Given the description of an element on the screen output the (x, y) to click on. 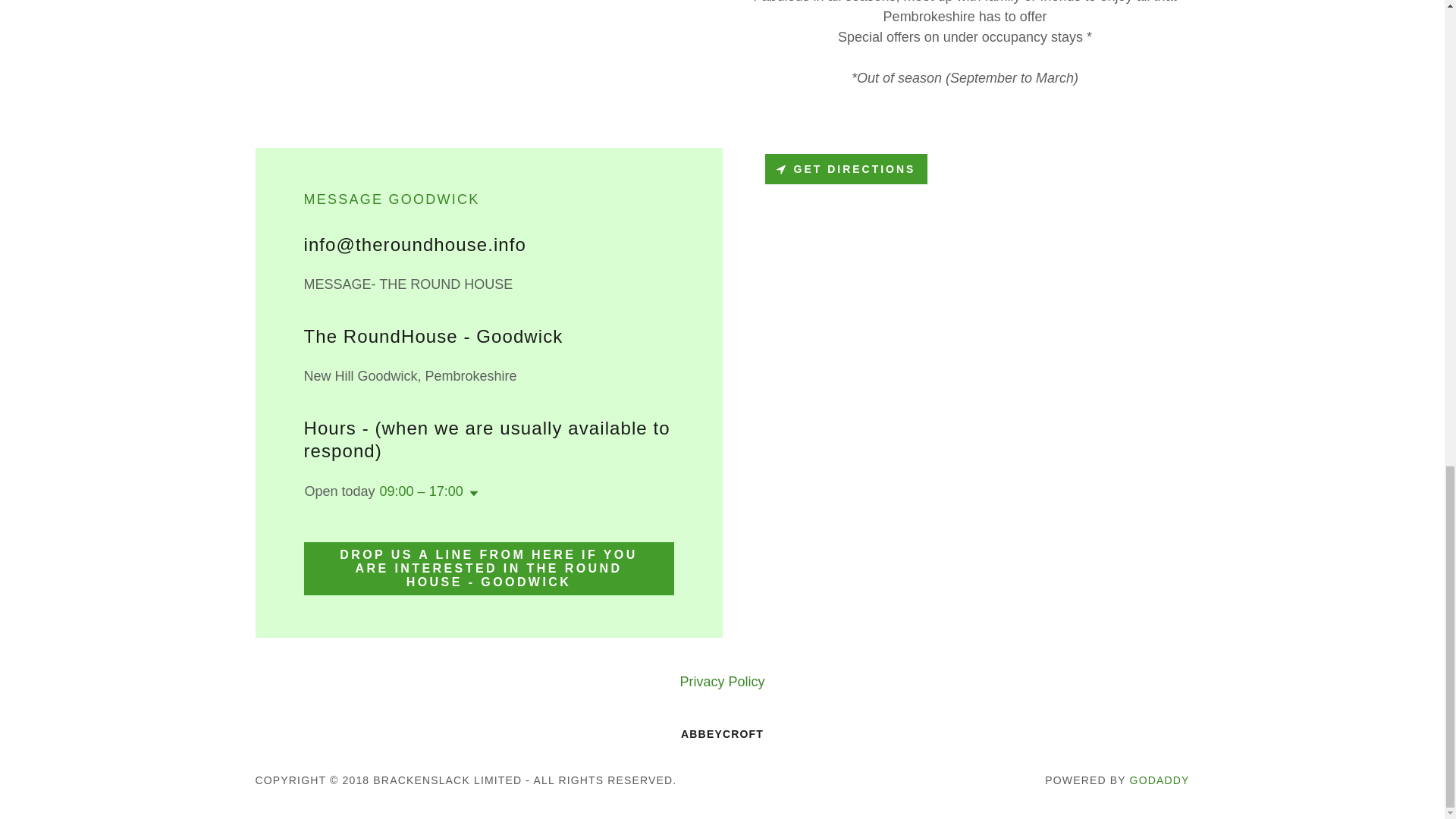
Privacy Policy (721, 682)
GET DIRECTIONS (845, 168)
GODADDY (1159, 779)
